Given the description of an element on the screen output the (x, y) to click on. 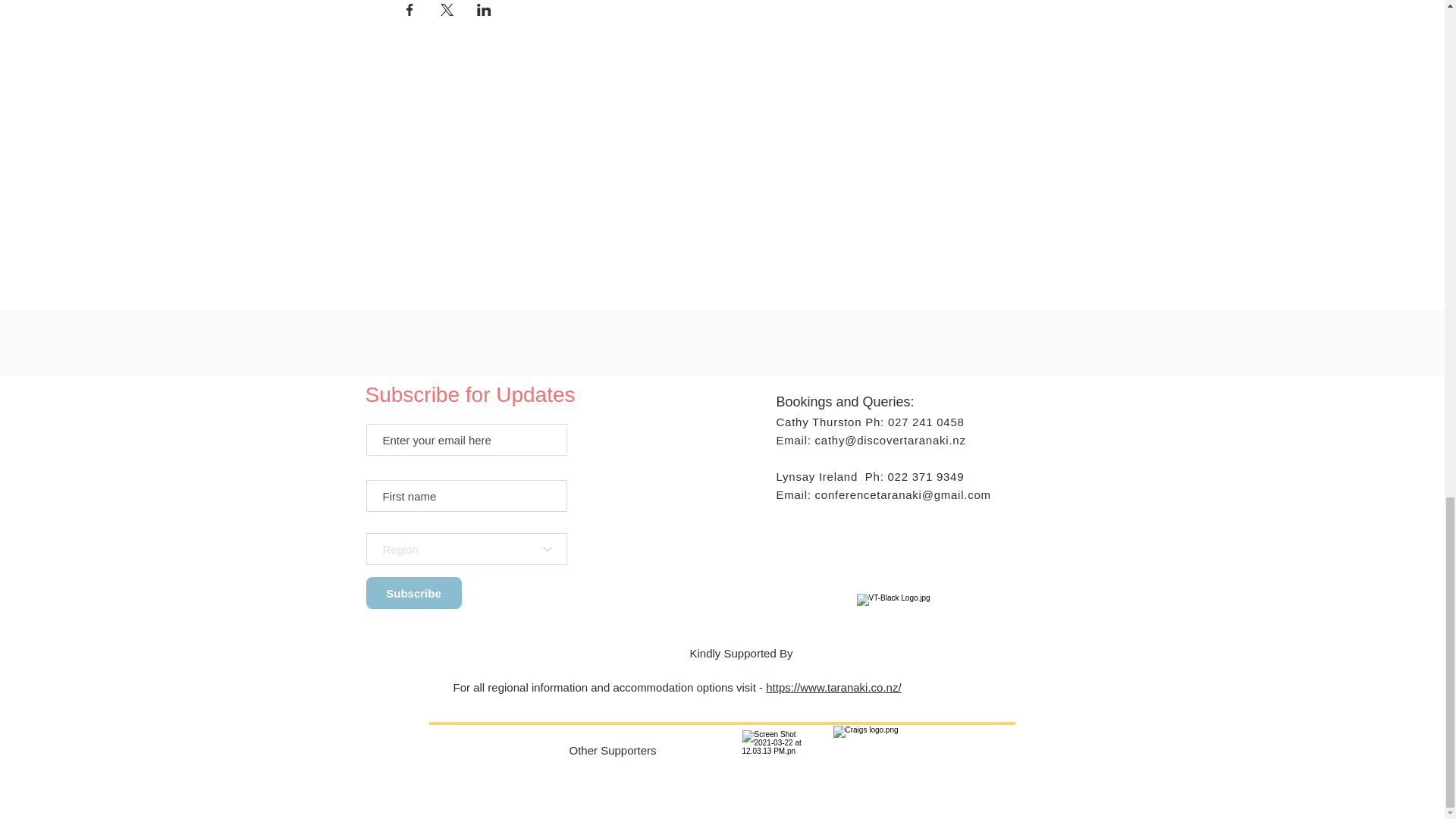
Subscribe (413, 593)
